Given the description of an element on the screen output the (x, y) to click on. 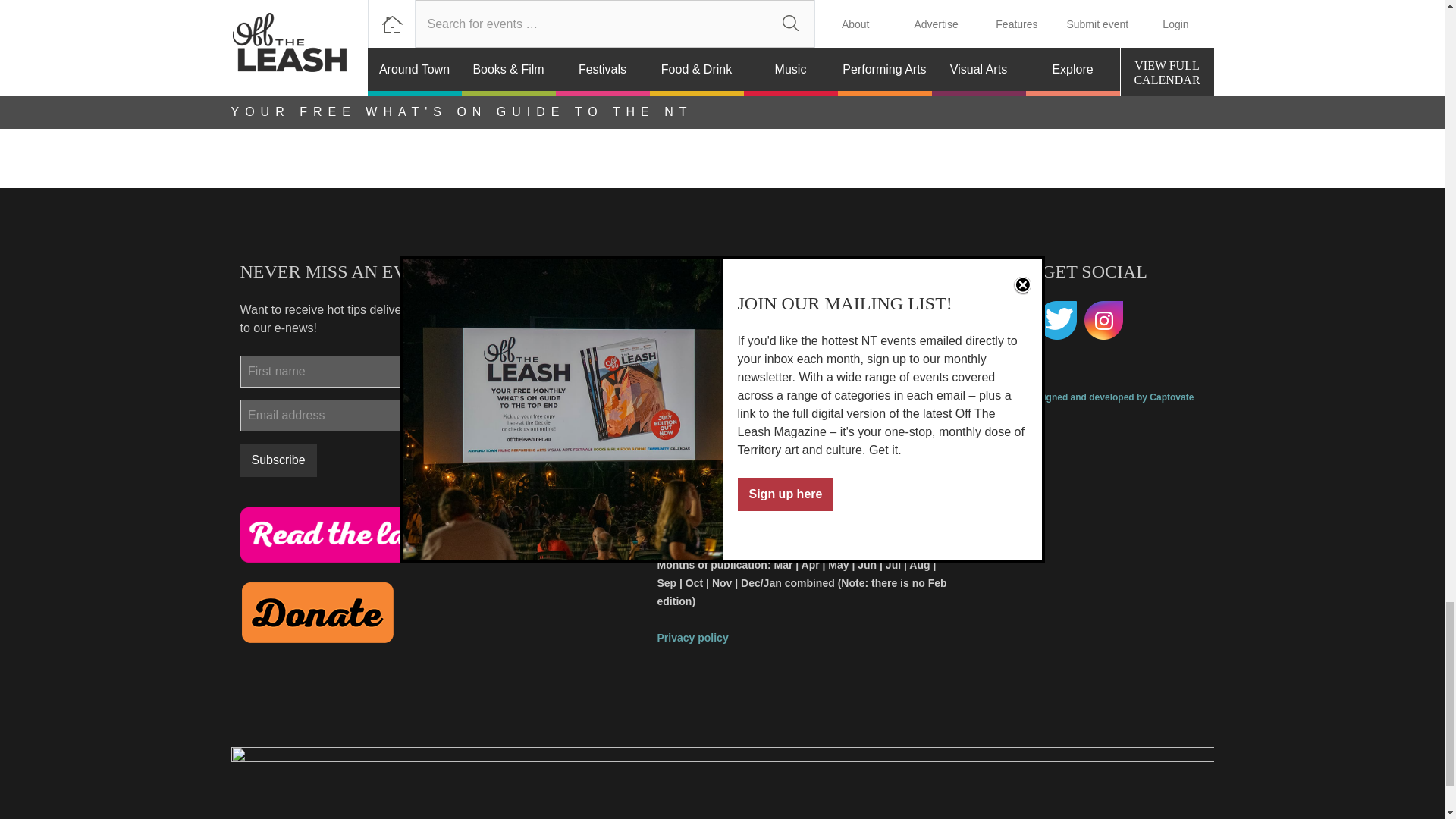
Like us on Facebook (1009, 320)
Privacy policy (692, 636)
German Masters (547, 19)
PayPal - The safer, easier way to pay online! (317, 612)
Follow us on Instagram (1104, 320)
Subscribe (277, 459)
Follow us on Twitter (1056, 320)
Subscribe (277, 459)
